Given the description of an element on the screen output the (x, y) to click on. 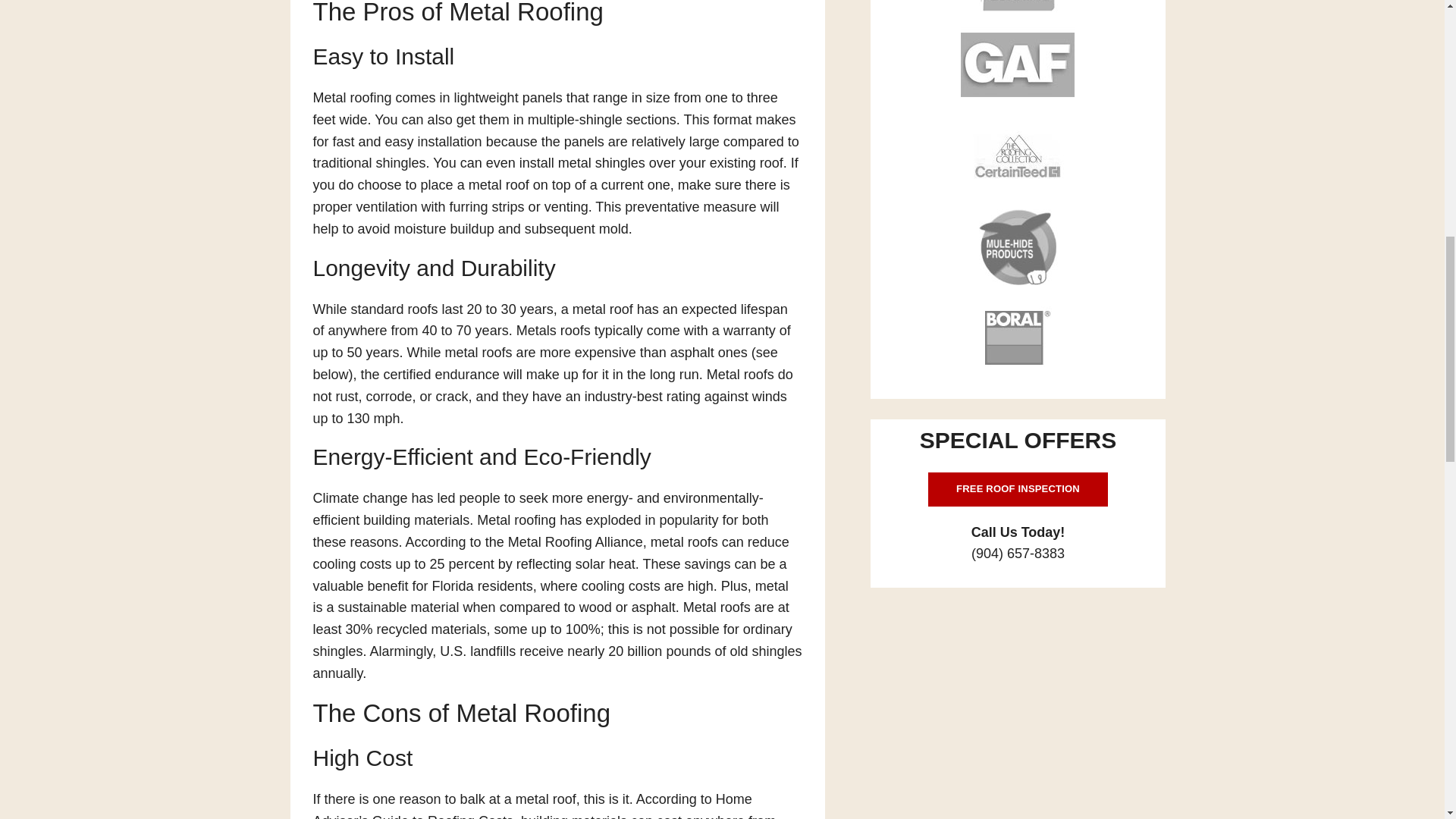
FREE ROOF INSPECTION (1018, 489)
